Given the description of an element on the screen output the (x, y) to click on. 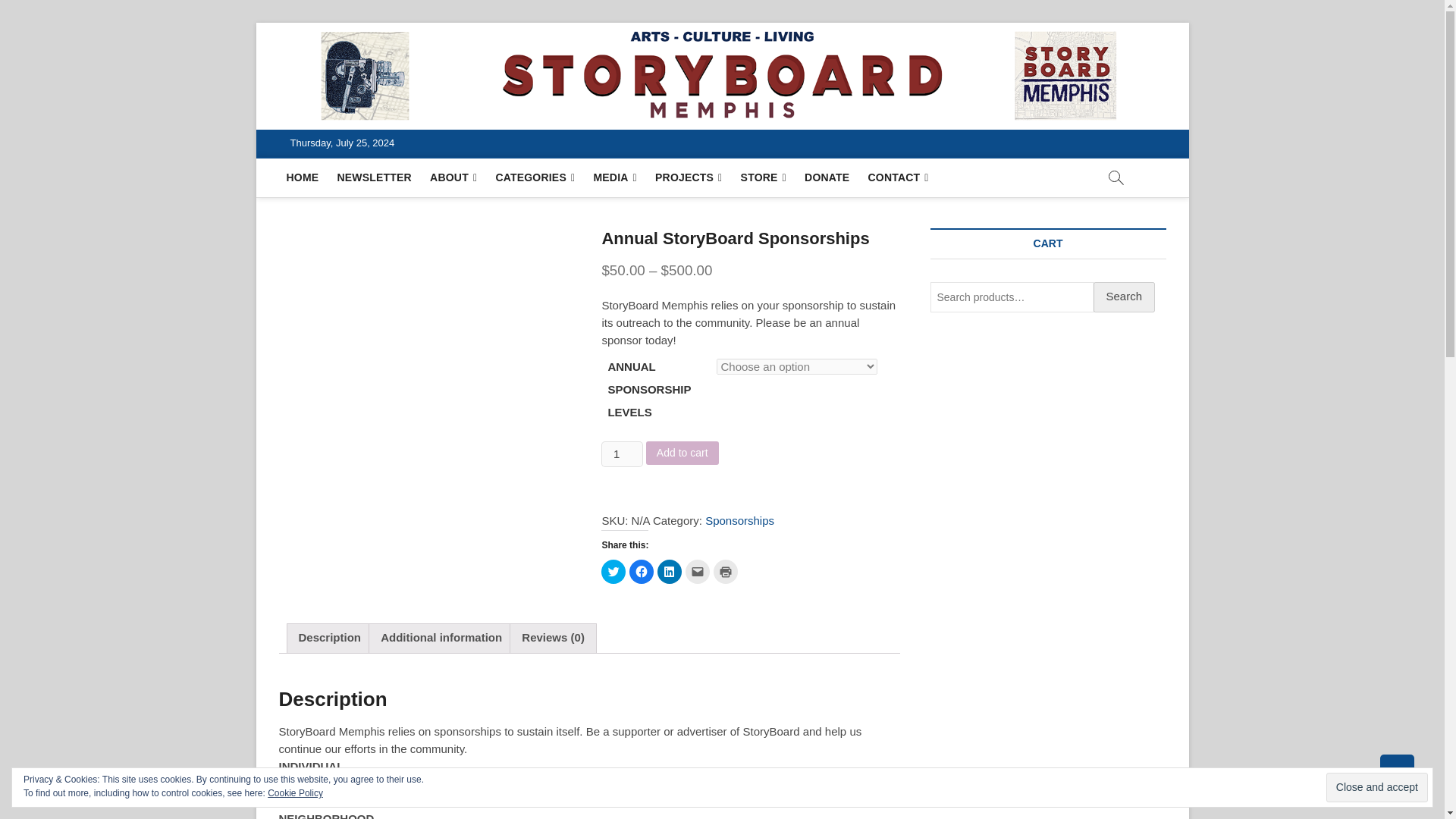
NEWSLETTER (374, 177)
Qty (621, 453)
Click to email a link to a friend (697, 571)
CATEGORIES (534, 177)
Click to share on LinkedIn (669, 571)
1 (621, 453)
MEDIA (614, 177)
Click to print (725, 571)
STORE (763, 177)
PROJECTS (688, 177)
Click to share on Facebook (640, 571)
Click to share on Twitter (613, 571)
ABOUT (453, 177)
HOME (302, 177)
